Given the description of an element on the screen output the (x, y) to click on. 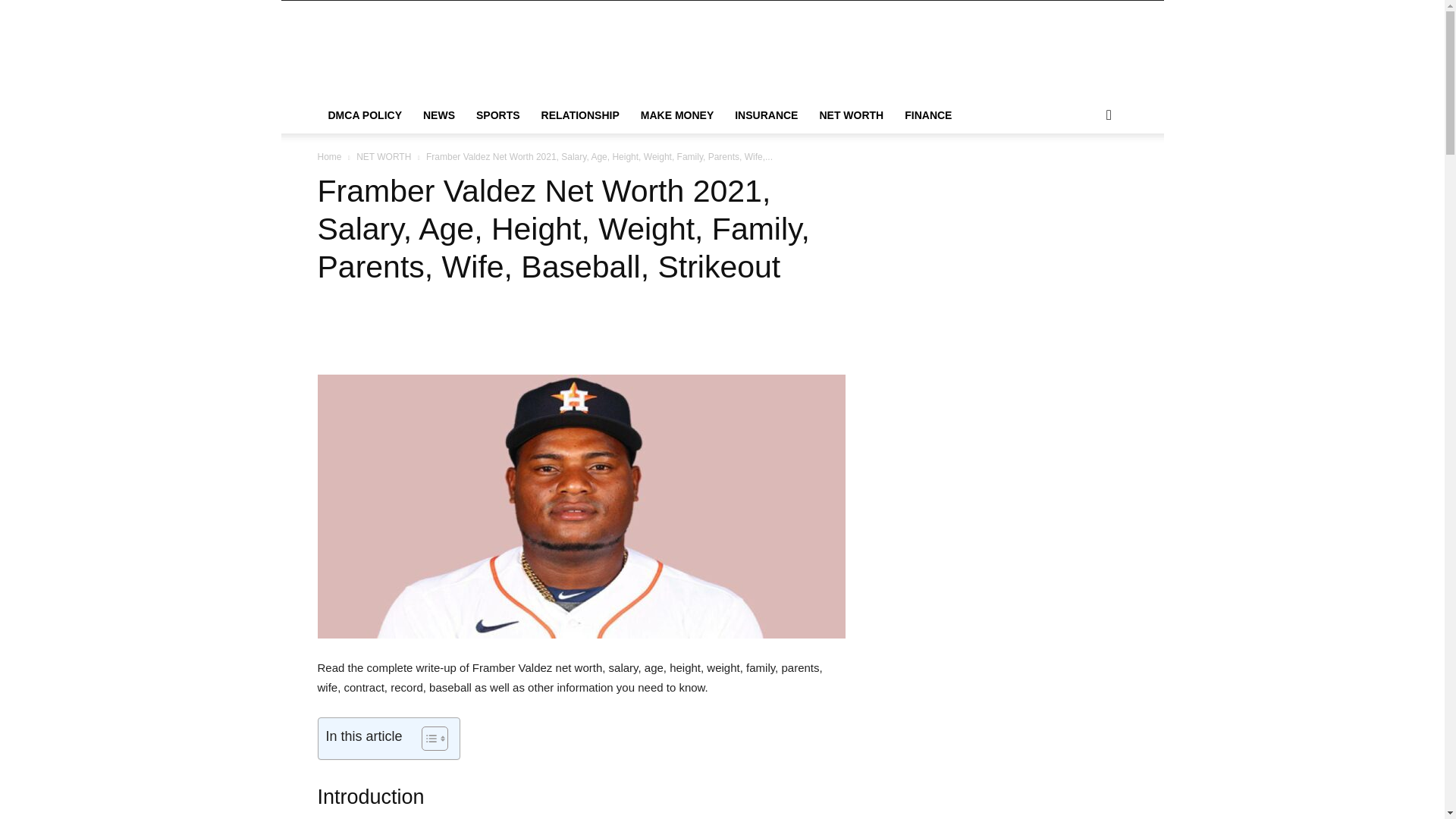
Search (1085, 175)
INSURANCE (765, 115)
Home (328, 156)
NEWS (438, 115)
RELATIONSHIP (580, 115)
MAKE MONEY (676, 115)
DMCA POLICY (364, 115)
NET WORTH (850, 115)
View all posts in NET WORTH (383, 156)
NET WORTH (383, 156)
FINANCE (927, 115)
SPORTS (498, 115)
